Given the description of an element on the screen output the (x, y) to click on. 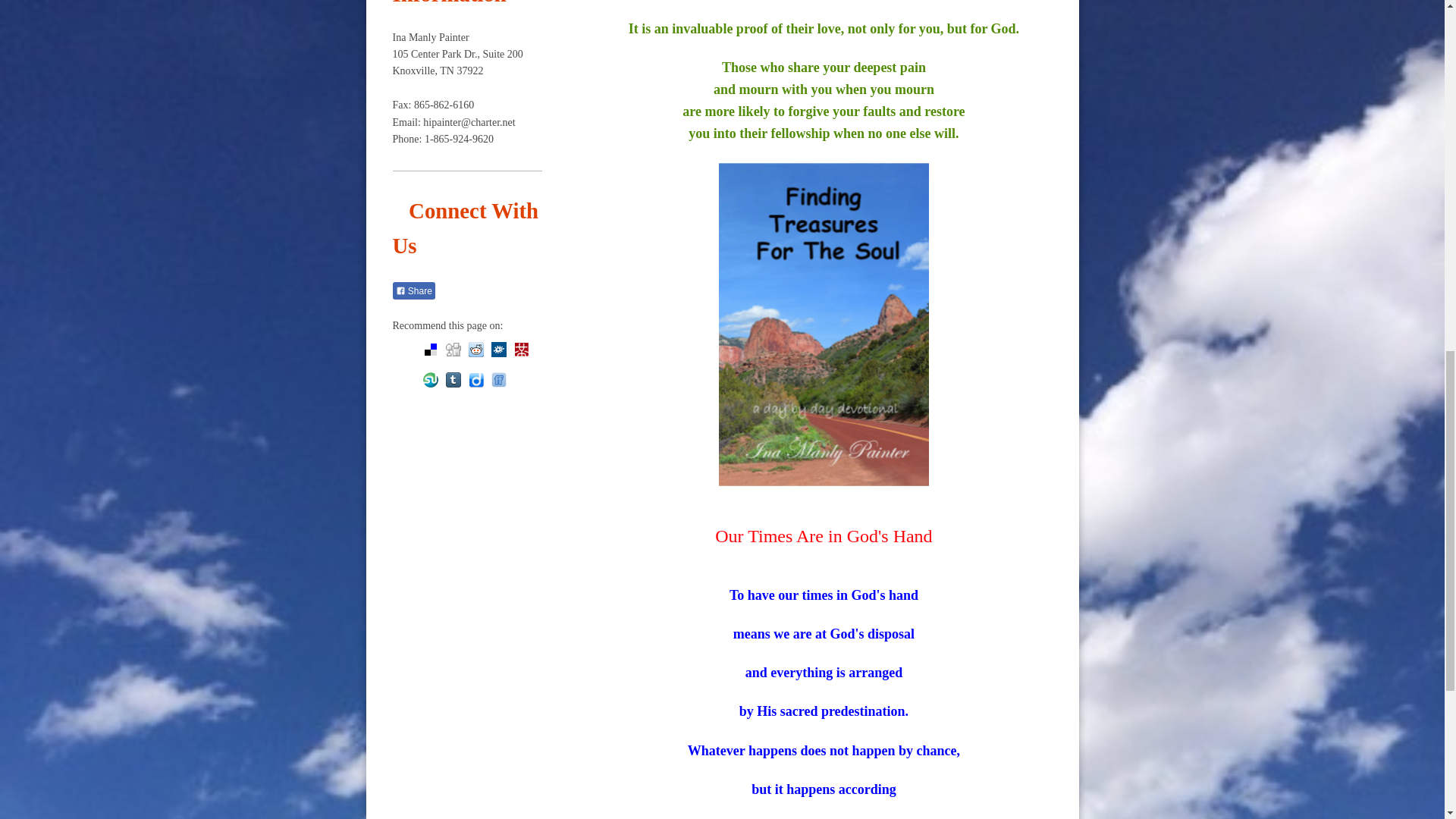
Reddit (475, 349)
FriendFeed (499, 379)
Delicious (430, 349)
Mister Wong (521, 349)
Stumble Upon (430, 379)
Digg (453, 349)
Tumblr (453, 379)
Diigo (475, 379)
Folkd (499, 349)
